Given the description of an element on the screen output the (x, y) to click on. 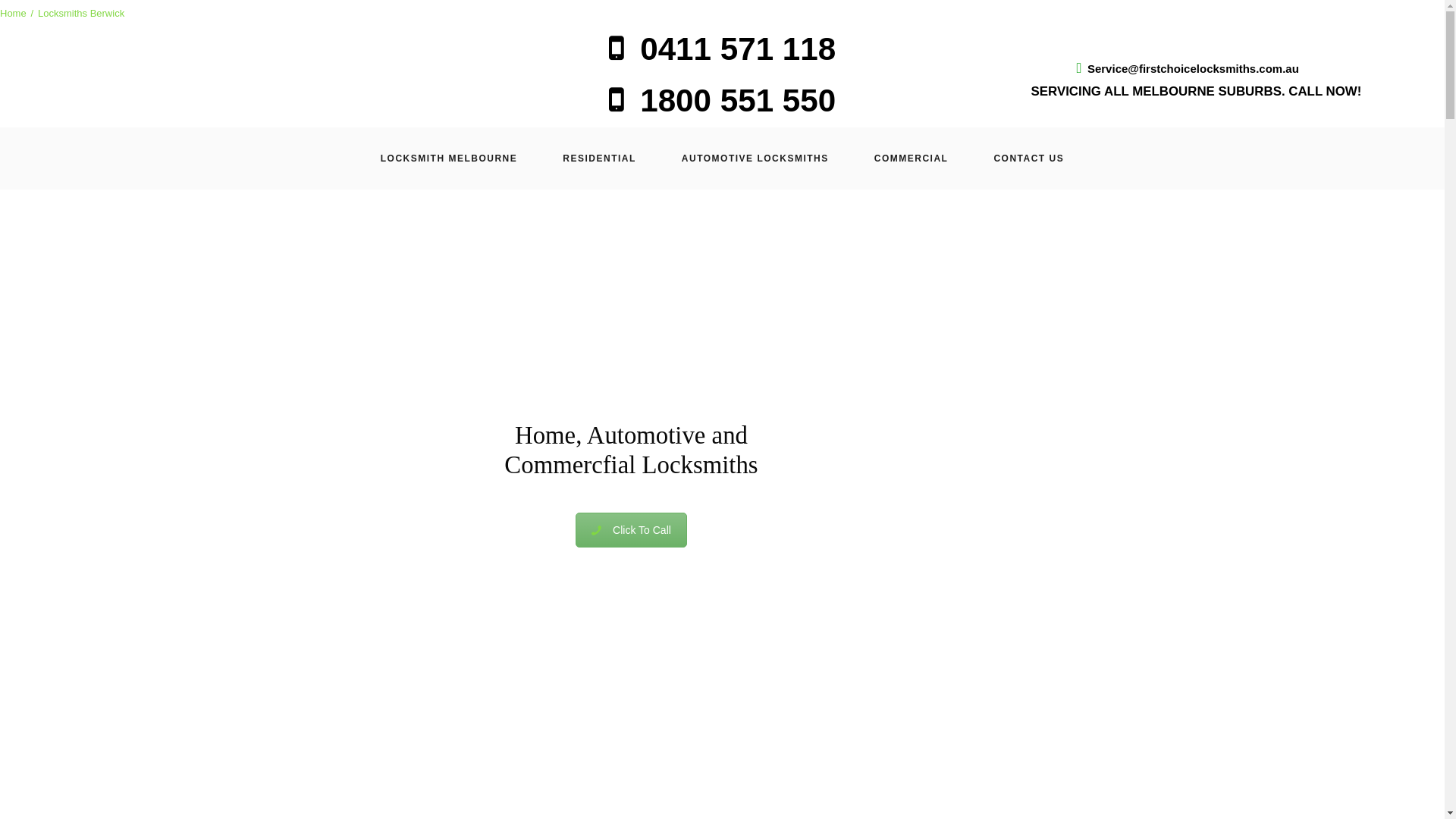
icon3 (722, 656)
CONTACT US (1028, 158)
RESIDENTIAL (599, 158)
AUTOMOTIVE LOCKSMITHS (755, 158)
Home (13, 12)
  1800 551 550 (721, 99)
LOCKSMITH MELBOURNE (449, 158)
Click To Call (631, 529)
  0411 571 118 (721, 48)
COMMERCIAL (911, 158)
